Given the description of an element on the screen output the (x, y) to click on. 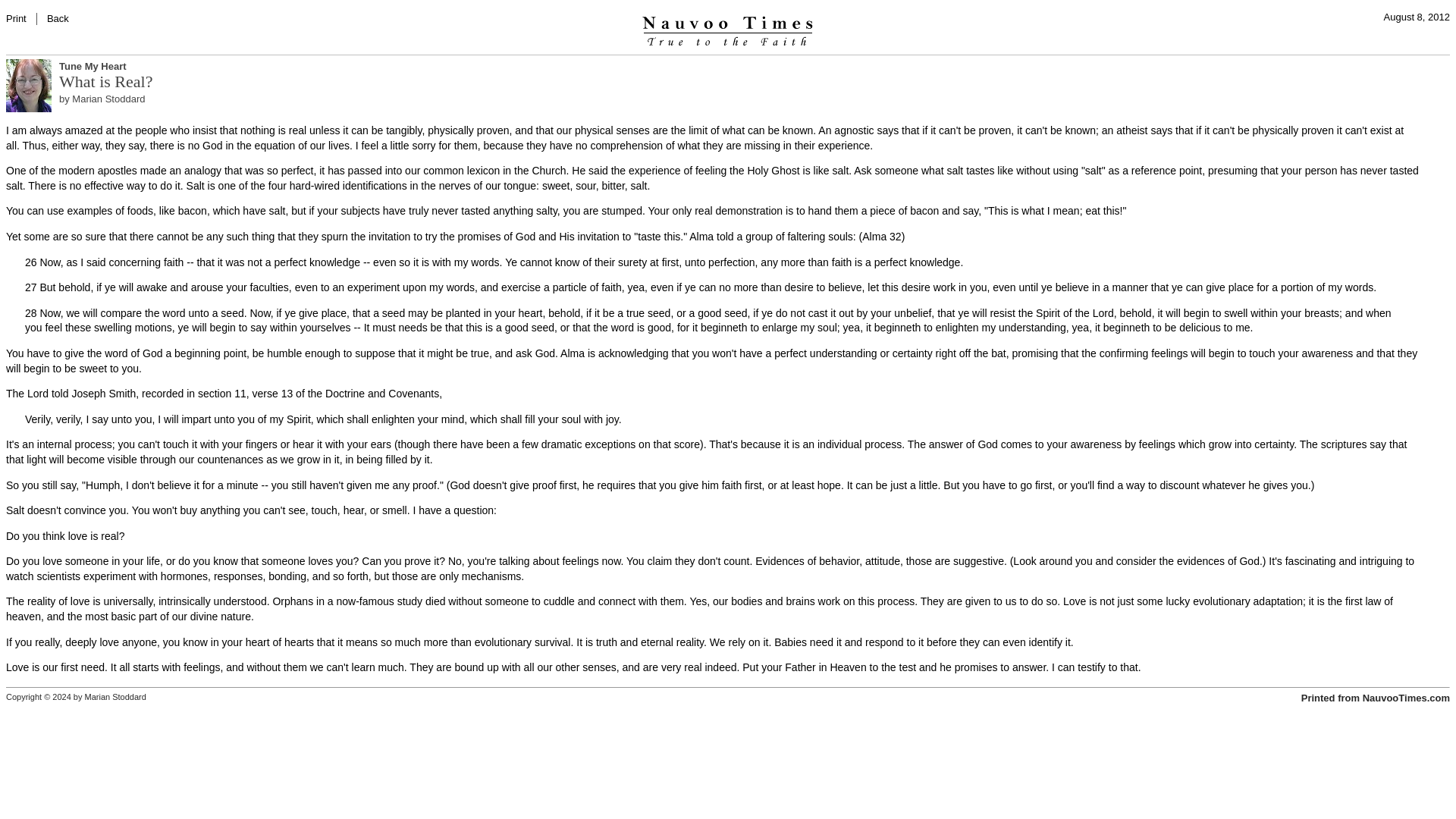
Print (15, 18)
Back (57, 18)
